Given the description of an element on the screen output the (x, y) to click on. 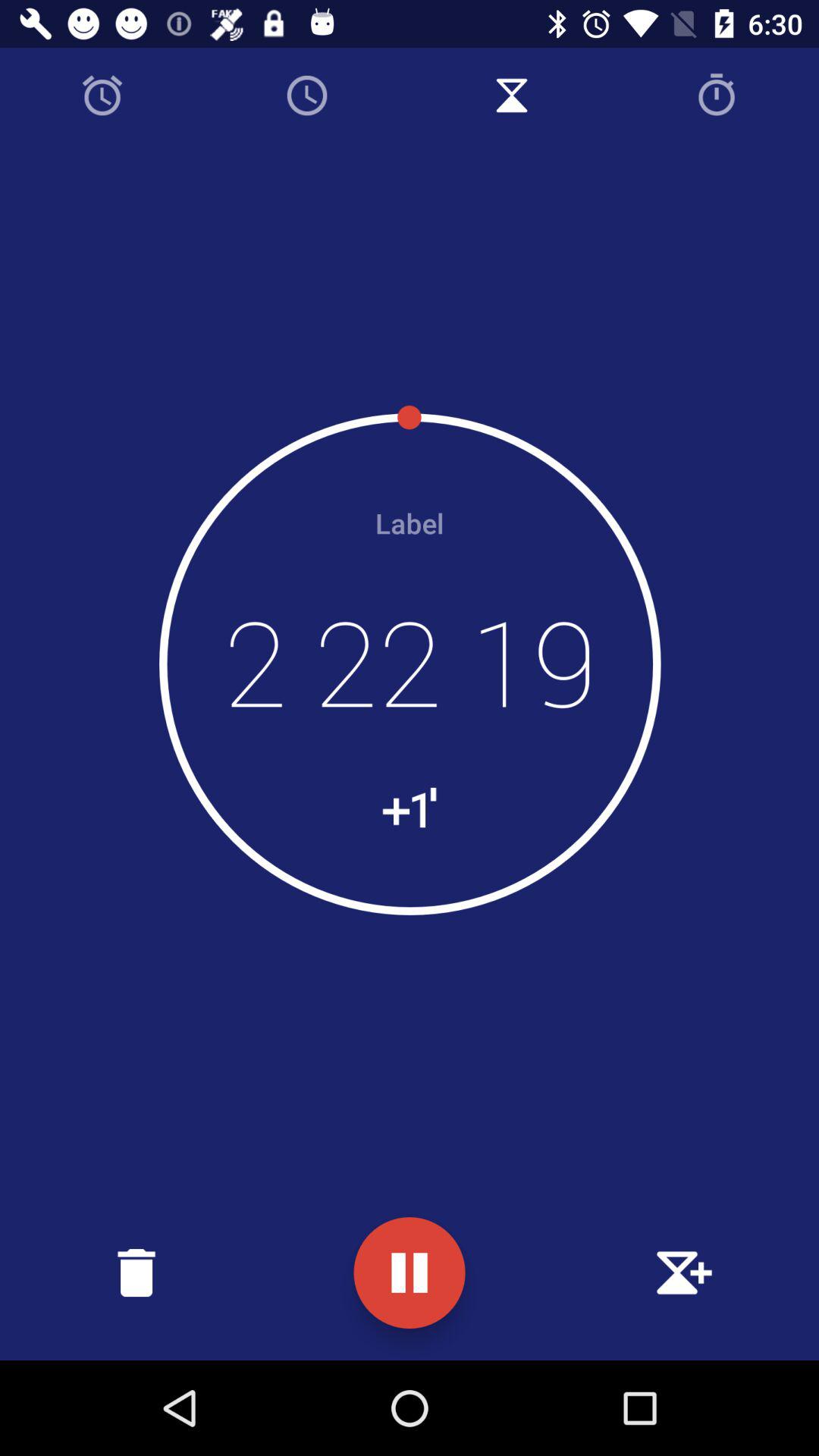
choose item at the bottom left corner (136, 1272)
